Given the description of an element on the screen output the (x, y) to click on. 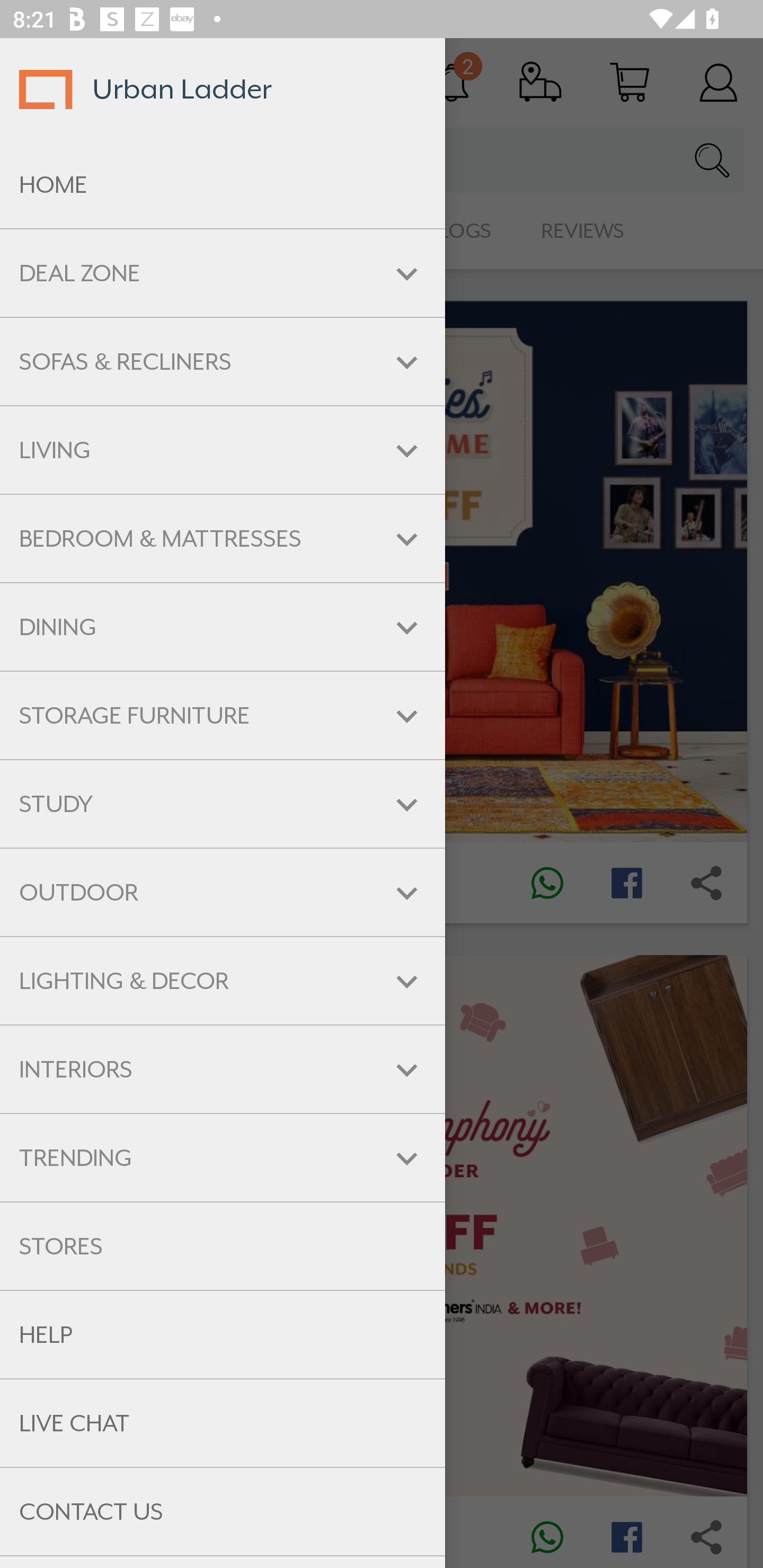
Urban Ladder (222, 89)
HOME (222, 184)
DEAL ZONE  (222, 273)
SOFAS & RECLINERS  (222, 361)
LIVING  (222, 450)
BEDROOM & MATTRESSES  (222, 538)
DINING  (222, 627)
STORAGE FURNITURE  (222, 715)
STUDY  (222, 803)
OUTDOOR  (222, 892)
LIGHTING & DECOR  (222, 980)
INTERIORS  (222, 1069)
TRENDING  (222, 1157)
STORES (222, 1246)
HELP (222, 1334)
LIVE CHAT (222, 1422)
CONTACT US (222, 1512)
